Given the description of an element on the screen output the (x, y) to click on. 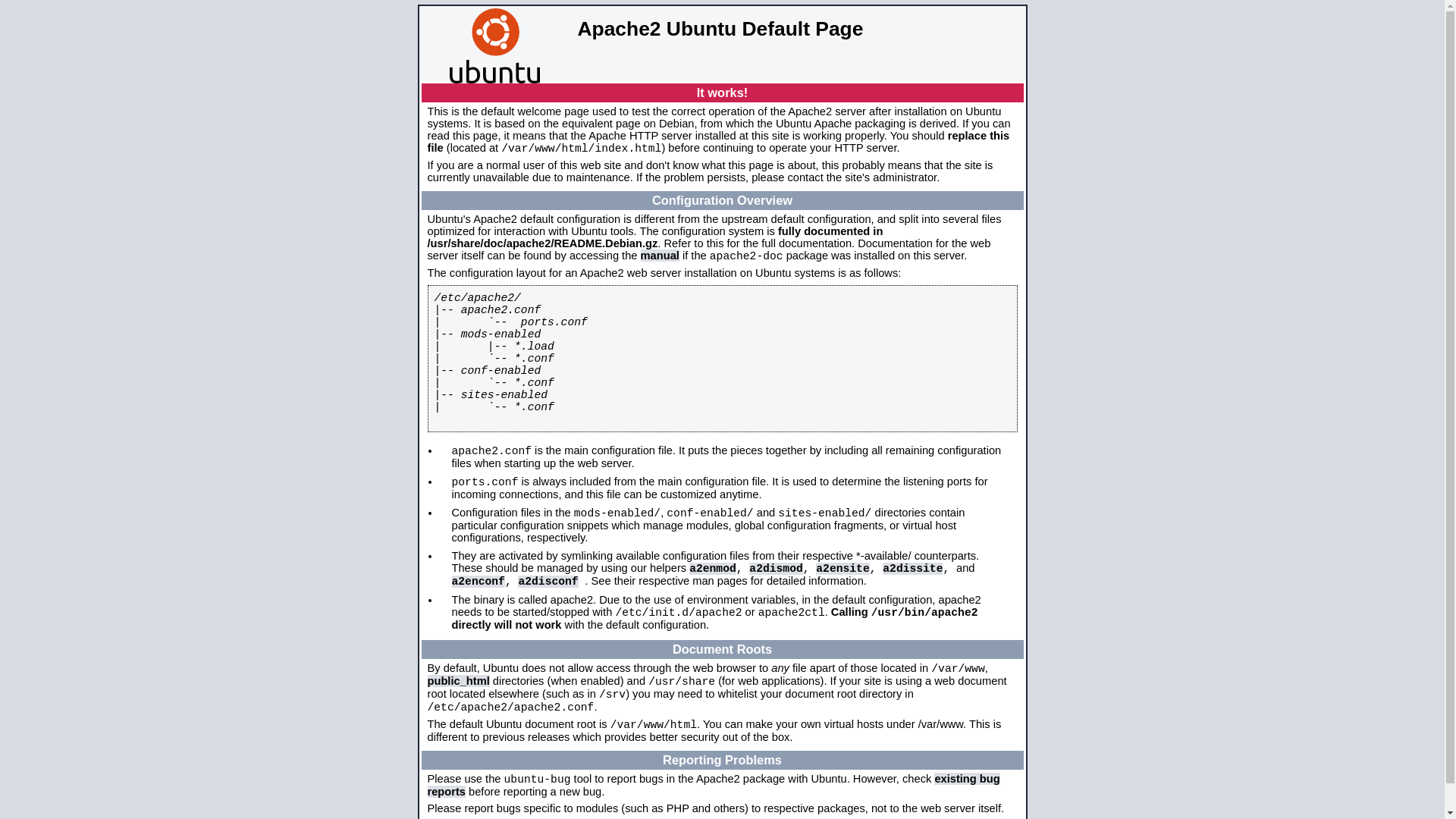
a2enconf Element type: text (478, 581)
a2ensite Element type: text (842, 568)
existing bug reports Element type: text (713, 784)
manual Element type: text (659, 255)
a2dismod Element type: text (775, 568)
a2dissite Element type: text (912, 568)
public_html Element type: text (458, 680)
a2disconf Element type: text (547, 581)
a2enmod Element type: text (712, 568)
